Given the description of an element on the screen output the (x, y) to click on. 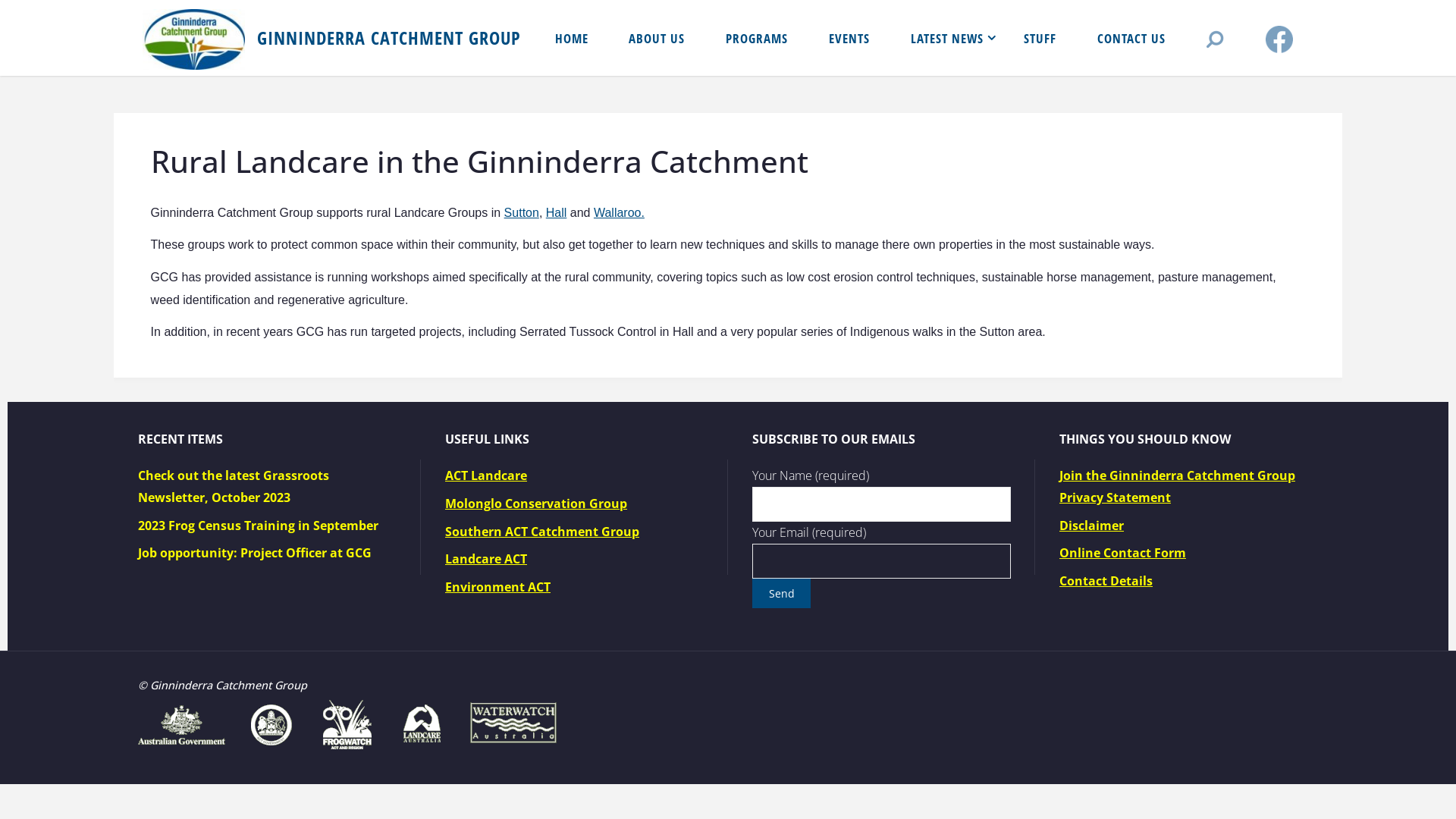
LATEST NEWS Element type: text (947, 37)
CONTACT US Element type: text (1131, 37)
Disclaimer Element type: text (1091, 525)
Wallaroo. Element type: text (618, 212)
HOME Element type: text (571, 37)
Sutton Element type: text (521, 212)
Job opportunity: Project Officer at GCG Element type: text (254, 552)
EVENTS Element type: text (849, 37)
GINNINDERRA CATCHMENT GROUP Element type: text (388, 37)
Check out the latest Grassroots Newsletter, October 2023 Element type: text (233, 486)
Environment ACT Element type: text (497, 586)
Landcare ACT Element type: text (486, 558)
ABOUT US Element type: text (657, 37)
ACT Landcare Element type: text (486, 475)
PROGRAMS Element type: text (756, 37)
Ginninderra Catchment Group Element type: hover (193, 37)
Privacy Statement Element type: text (1114, 497)
Contact Details Element type: text (1105, 580)
Southern ACT Catchment Group Element type: text (542, 531)
Send Element type: text (781, 593)
STUFF Element type: text (1040, 37)
Hall Element type: text (556, 212)
Online Contact Form Element type: text (1122, 552)
2023 Frog Census Training in September Element type: text (258, 525)
Join the Ginninderra Catchment Group Element type: text (1177, 475)
Molonglo Conservation Group Element type: text (536, 503)
